Given the description of an element on the screen output the (x, y) to click on. 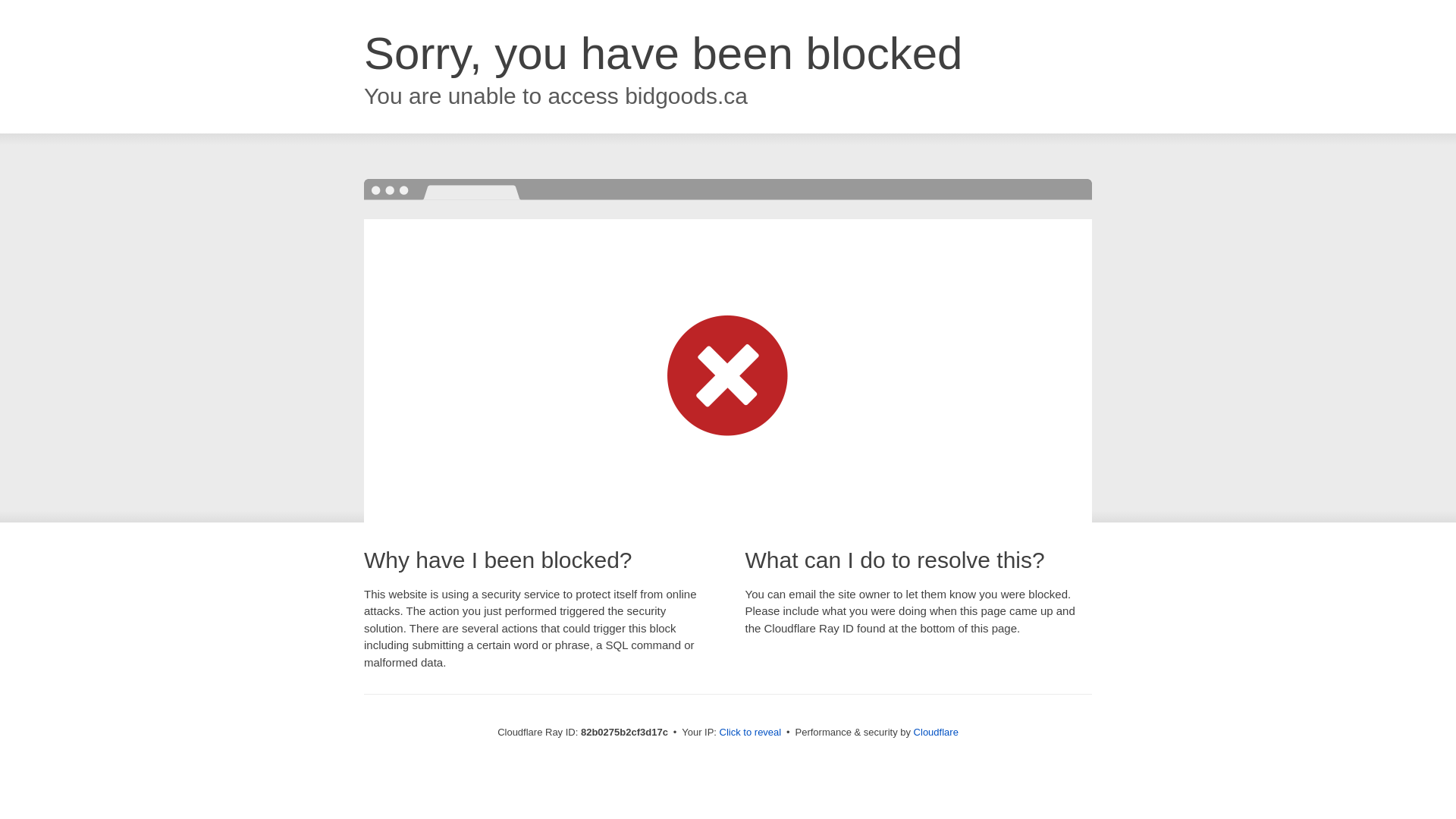
Cloudflare Element type: text (935, 731)
Click to reveal Element type: text (750, 732)
